Given the description of an element on the screen output the (x, y) to click on. 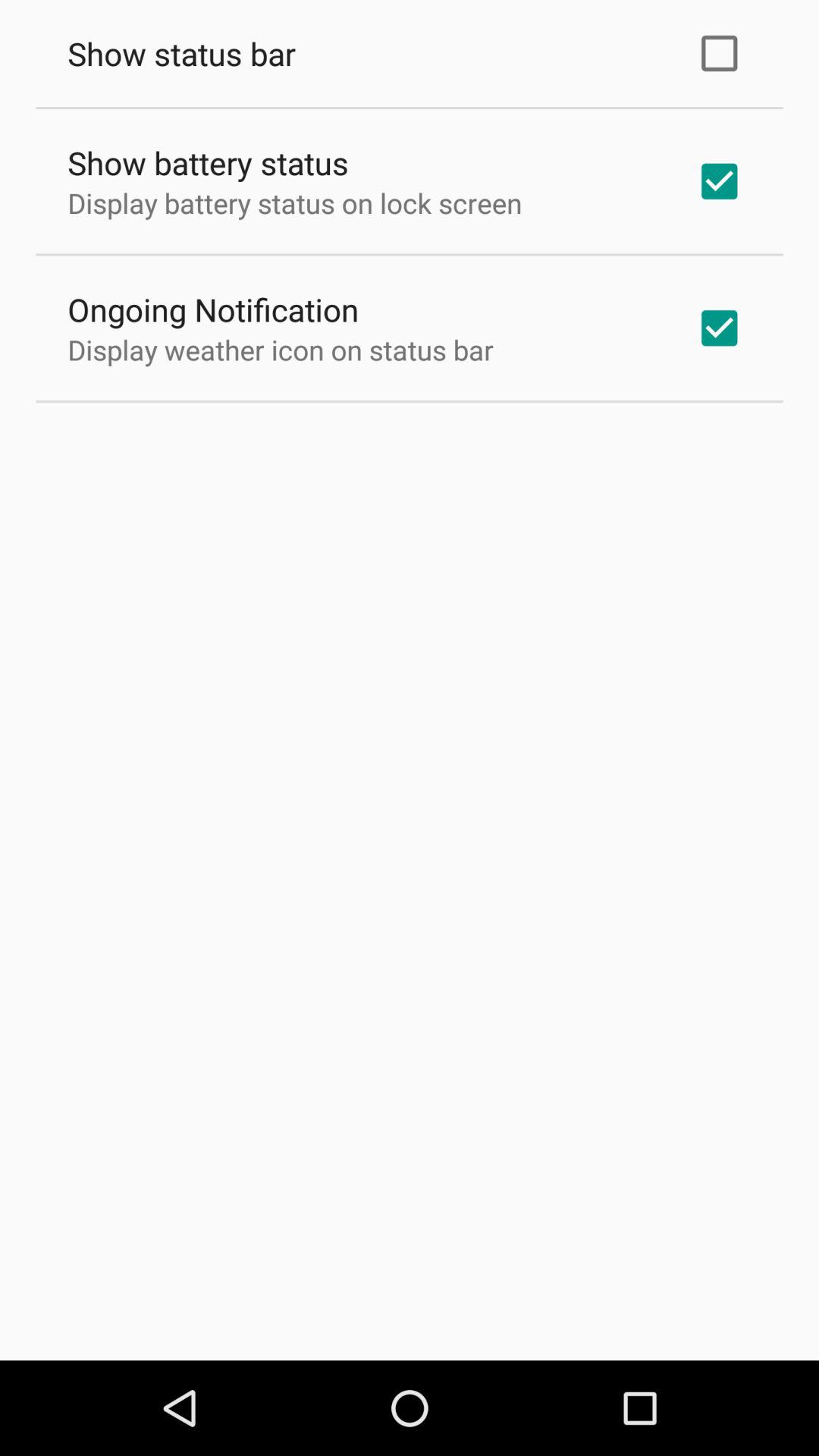
scroll to display weather icon app (280, 349)
